Given the description of an element on the screen output the (x, y) to click on. 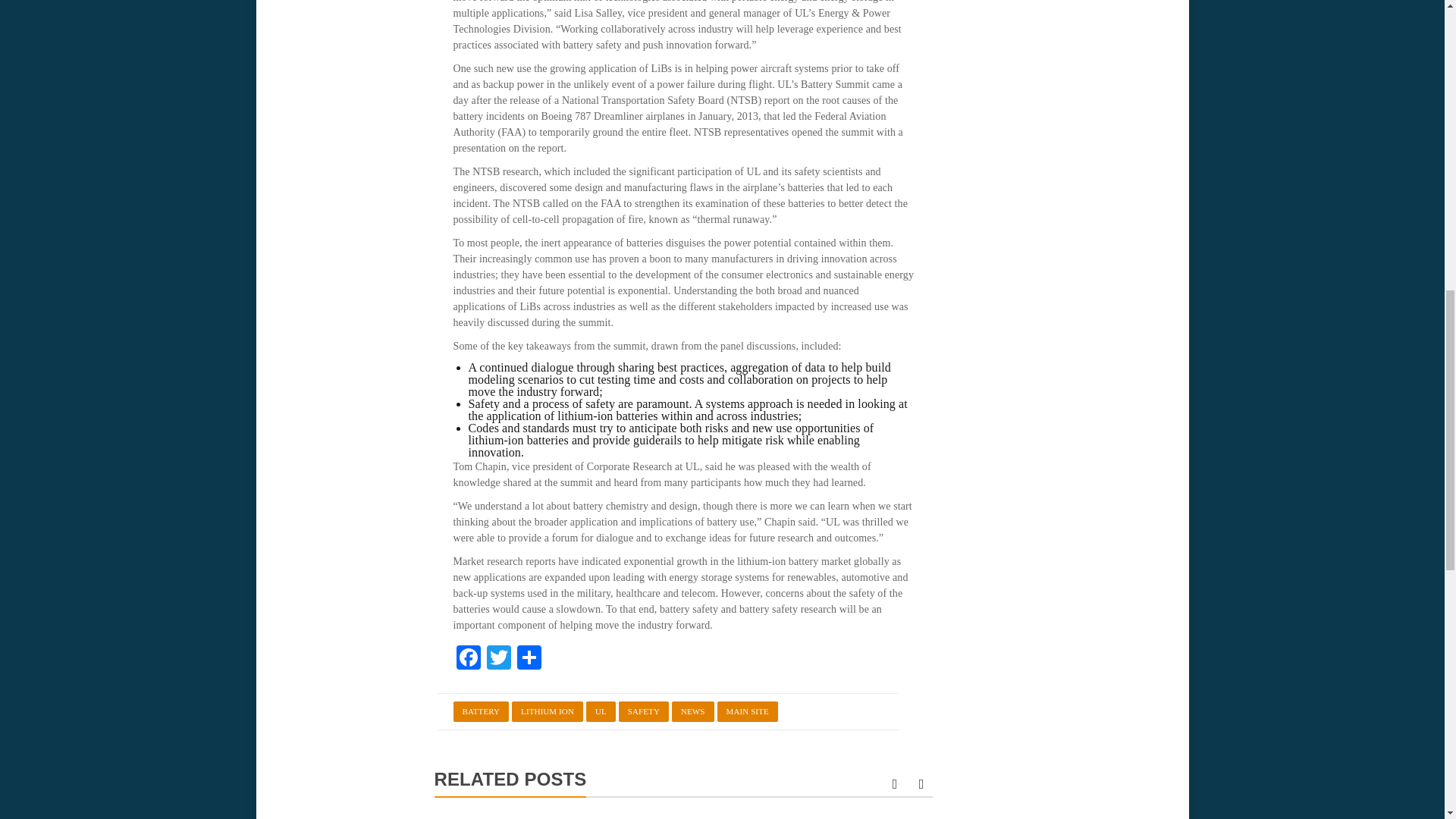
Facebook (467, 659)
Twitter (498, 659)
